Given the description of an element on the screen output the (x, y) to click on. 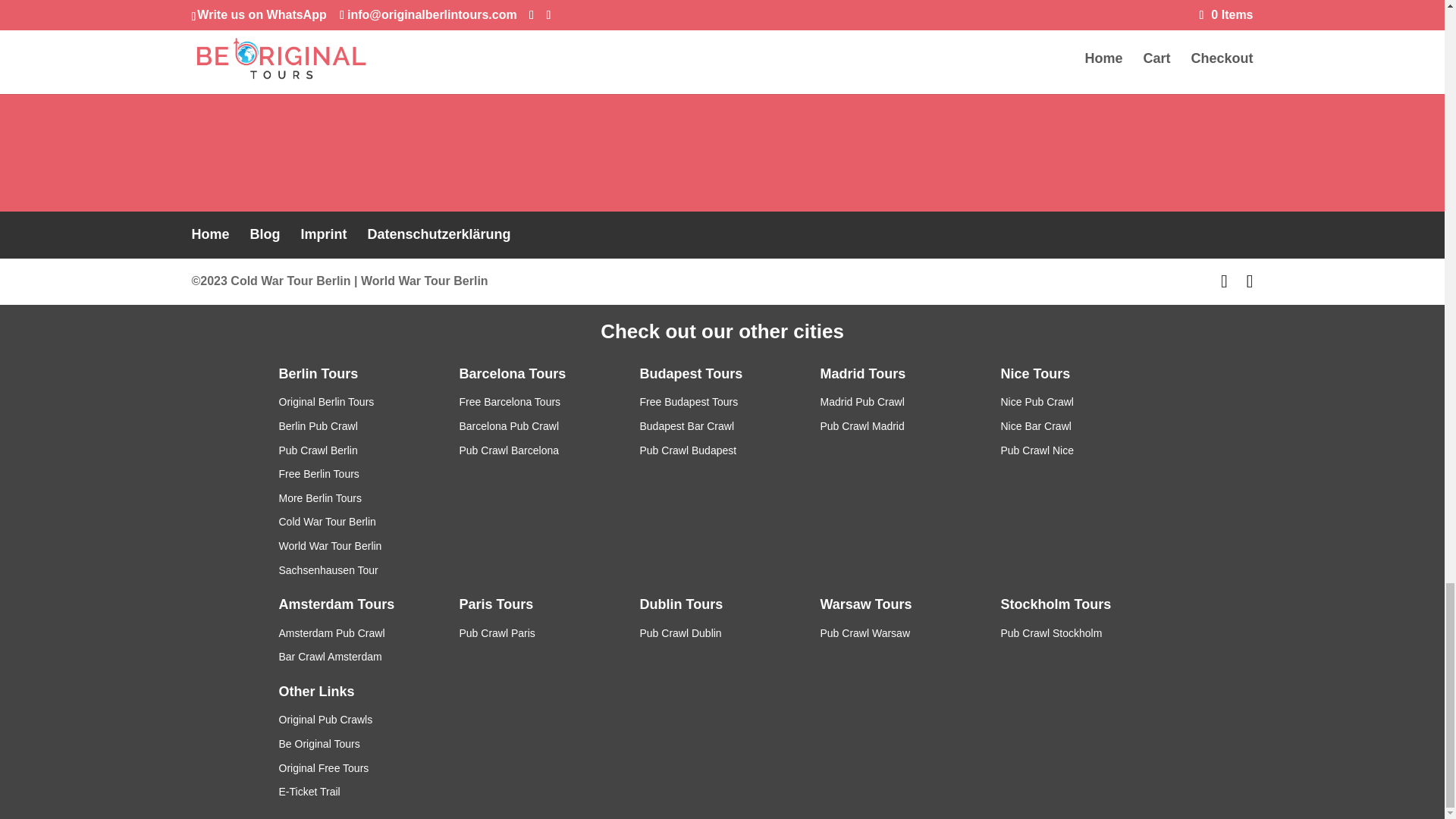
Free Barcelona Tours (510, 401)
Imprint (324, 233)
Home (209, 233)
Free Budapest Tours (689, 401)
Blog (265, 233)
Book Your Cold War Tour Now (722, 5)
Sachsenhausen Tour (328, 570)
Pub Crawl Berlin (318, 450)
Original Berlin Tours (326, 401)
World War Tour Berlin (330, 545)
